Given the description of an element on the screen output the (x, y) to click on. 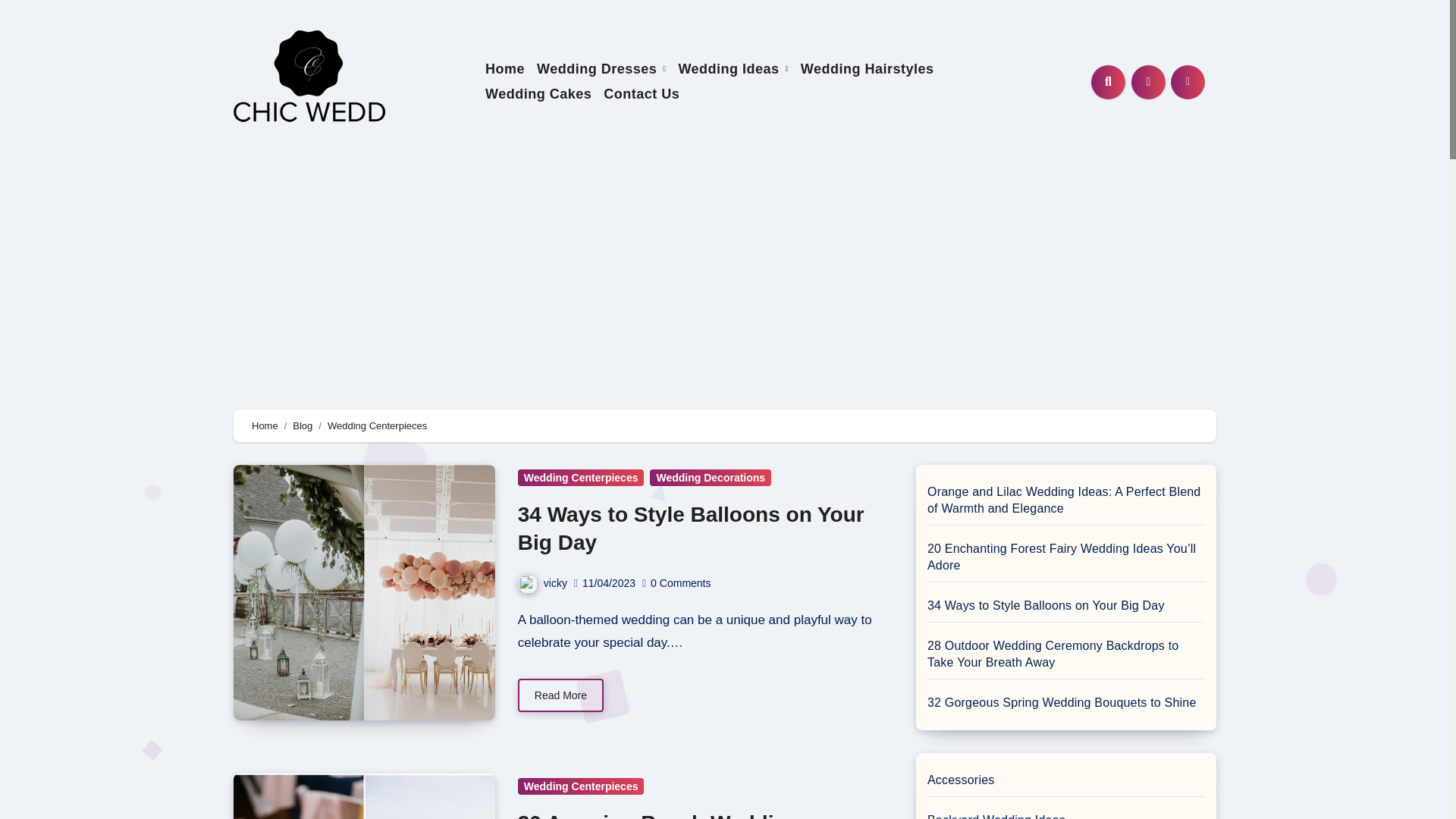
Wedding Ideas (732, 68)
Wedding Centerpieces (581, 786)
Wedding Hairstyles (867, 68)
Wedding Cakes (537, 94)
Wedding Hairstyles (867, 68)
Wedding Cakes (537, 94)
Home (264, 425)
Home (505, 68)
vicky (542, 582)
34 Ways to Style Balloons on Your Big Day (691, 527)
Contact Us (640, 94)
Read More (561, 694)
Wedding Ideas (732, 68)
Contact Us (640, 94)
